Given the description of an element on the screen output the (x, y) to click on. 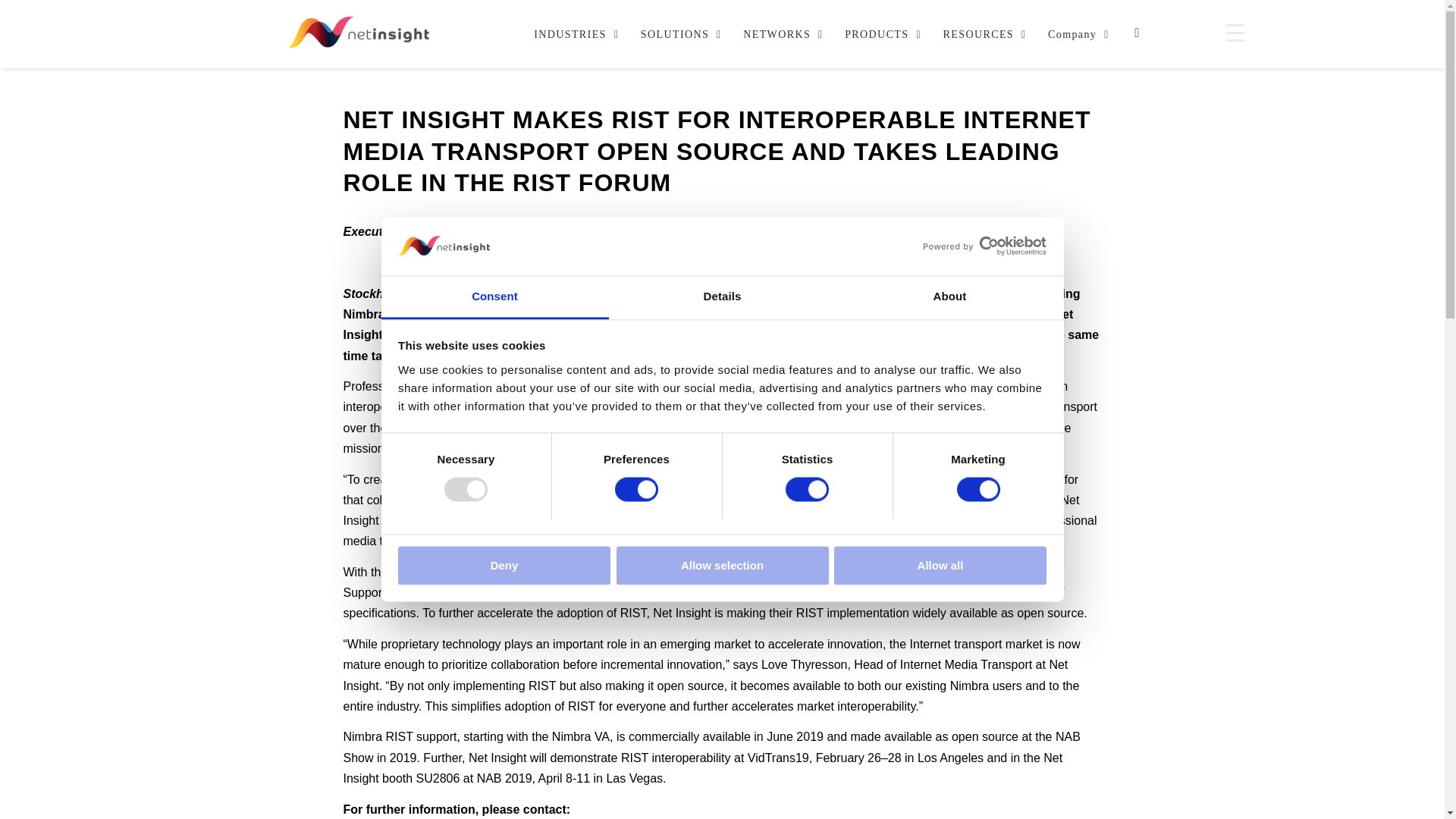
Consent (494, 297)
About (948, 297)
Details (721, 297)
